Given the description of an element on the screen output the (x, y) to click on. 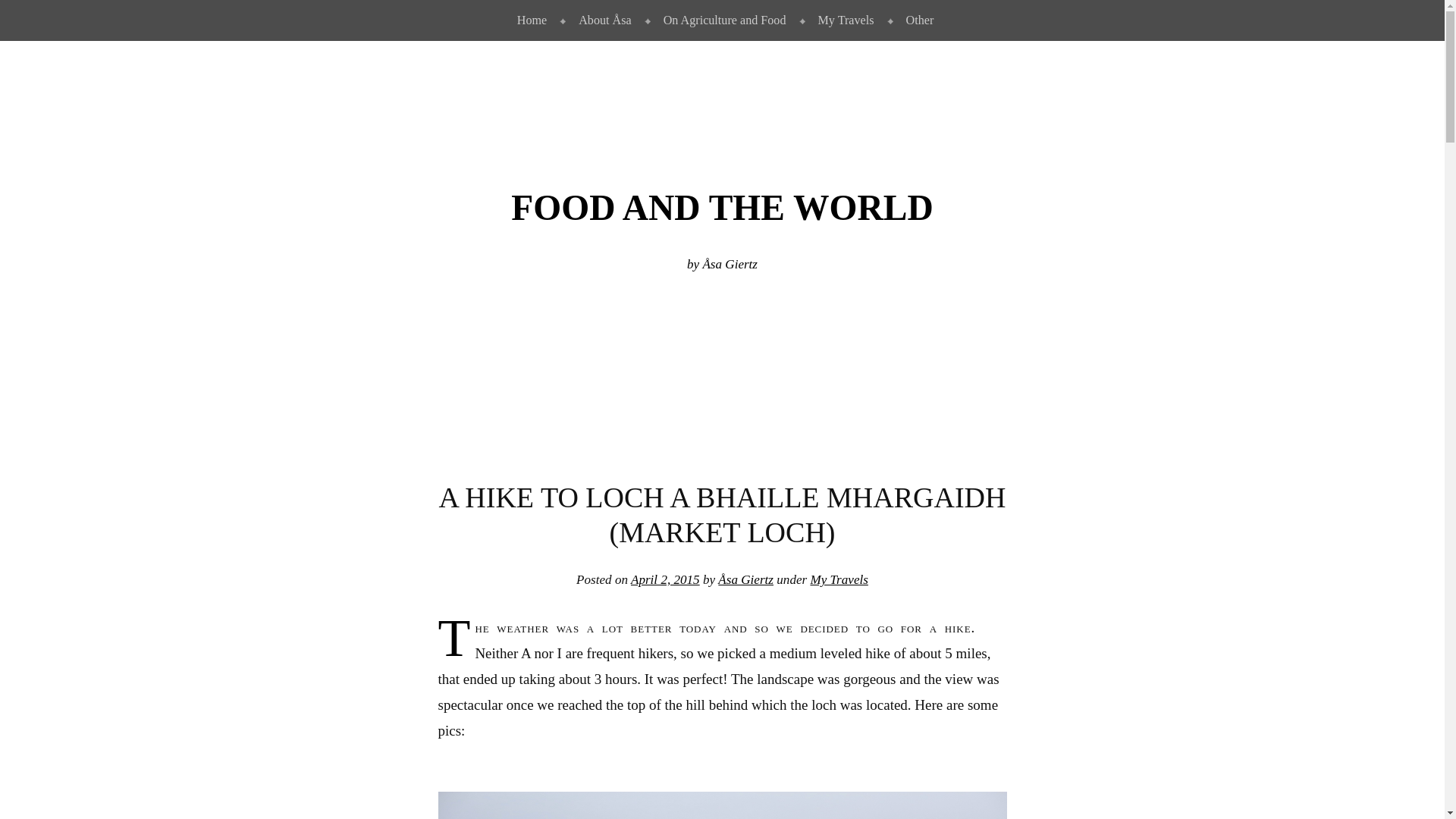
My Travels (838, 579)
April 2, 2015 (665, 579)
Food and the World (722, 207)
Skip to content (37, 11)
My Travels (842, 20)
Other (916, 20)
Home (528, 20)
5:15 pm (665, 579)
FOOD AND THE WORLD (722, 207)
Skip to content (37, 11)
On Agriculture and Food (722, 20)
